Given the description of an element on the screen output the (x, y) to click on. 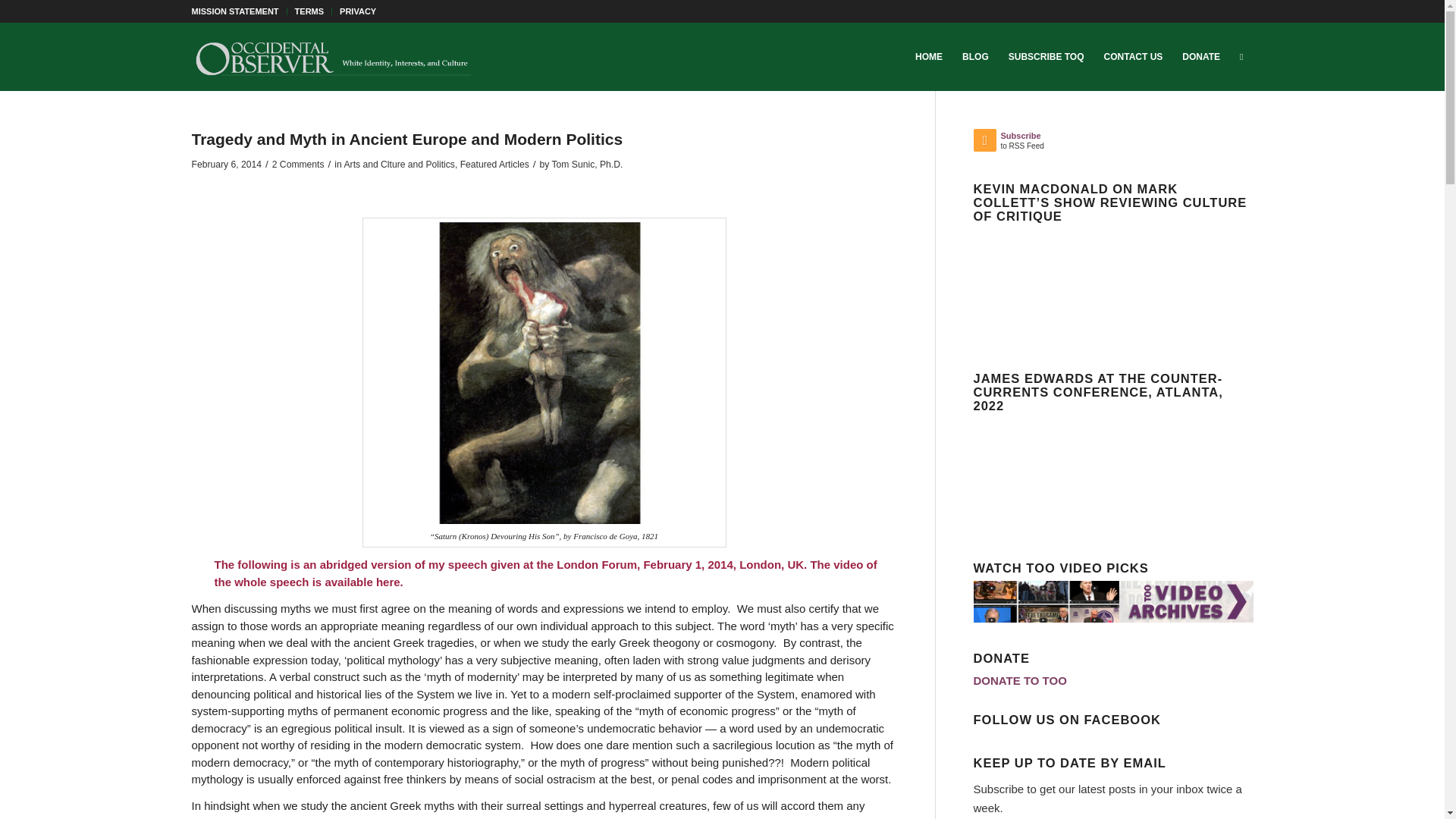
Featured Articles (494, 163)
Contact Us (1133, 56)
SUBSCRIBE TOQ (1046, 56)
Arts and Clture and Politics (398, 163)
Posts by Tom Sunic, Ph.D. (587, 163)
here (387, 581)
TERMS (309, 11)
2 Comments (298, 163)
Tom Sunic, Ph.D. (587, 163)
MISSION STATEMENT (234, 11)
